Given the description of an element on the screen output the (x, y) to click on. 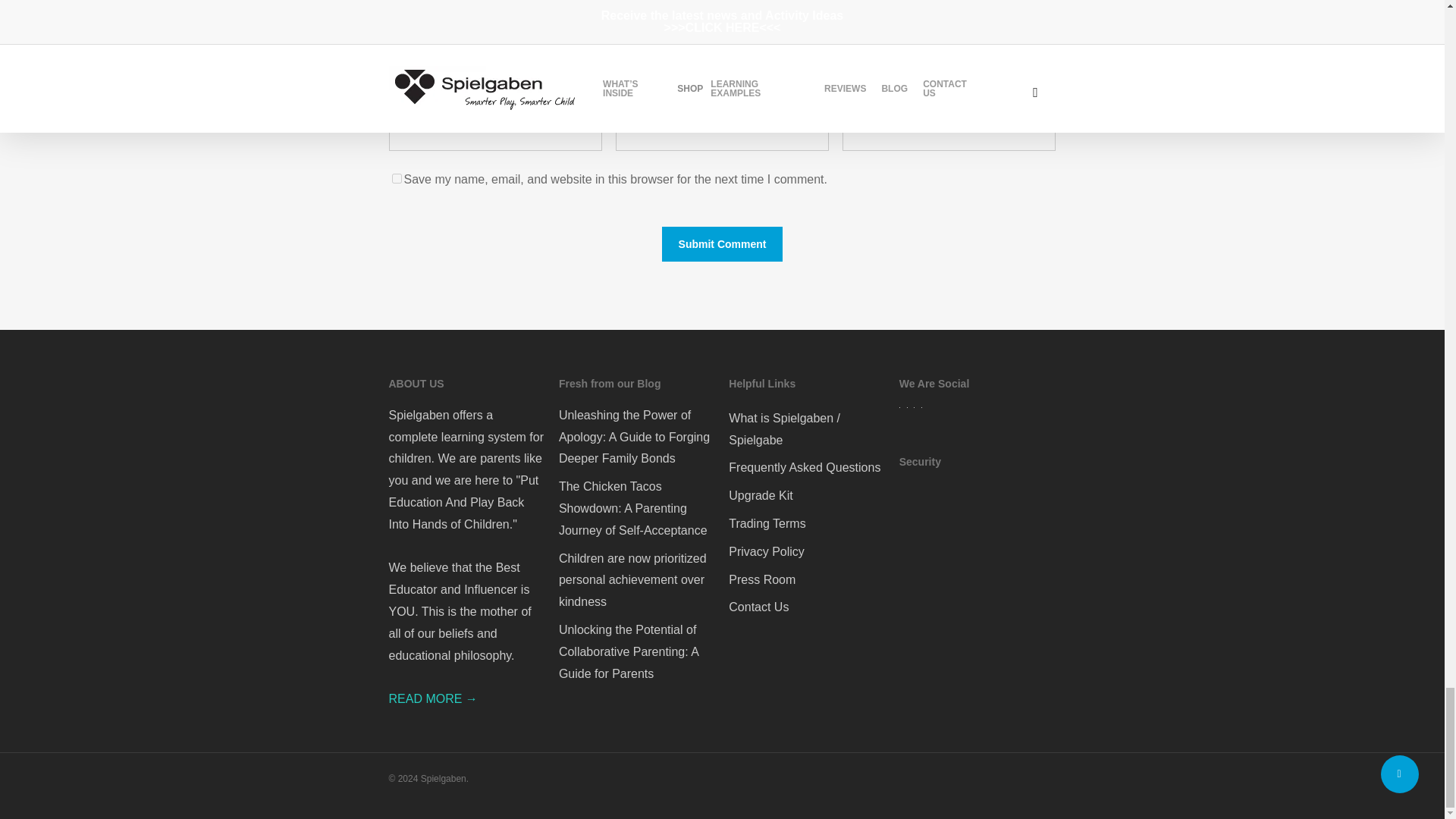
yes (396, 178)
Submit Comment (722, 243)
